Given the description of an element on the screen output the (x, y) to click on. 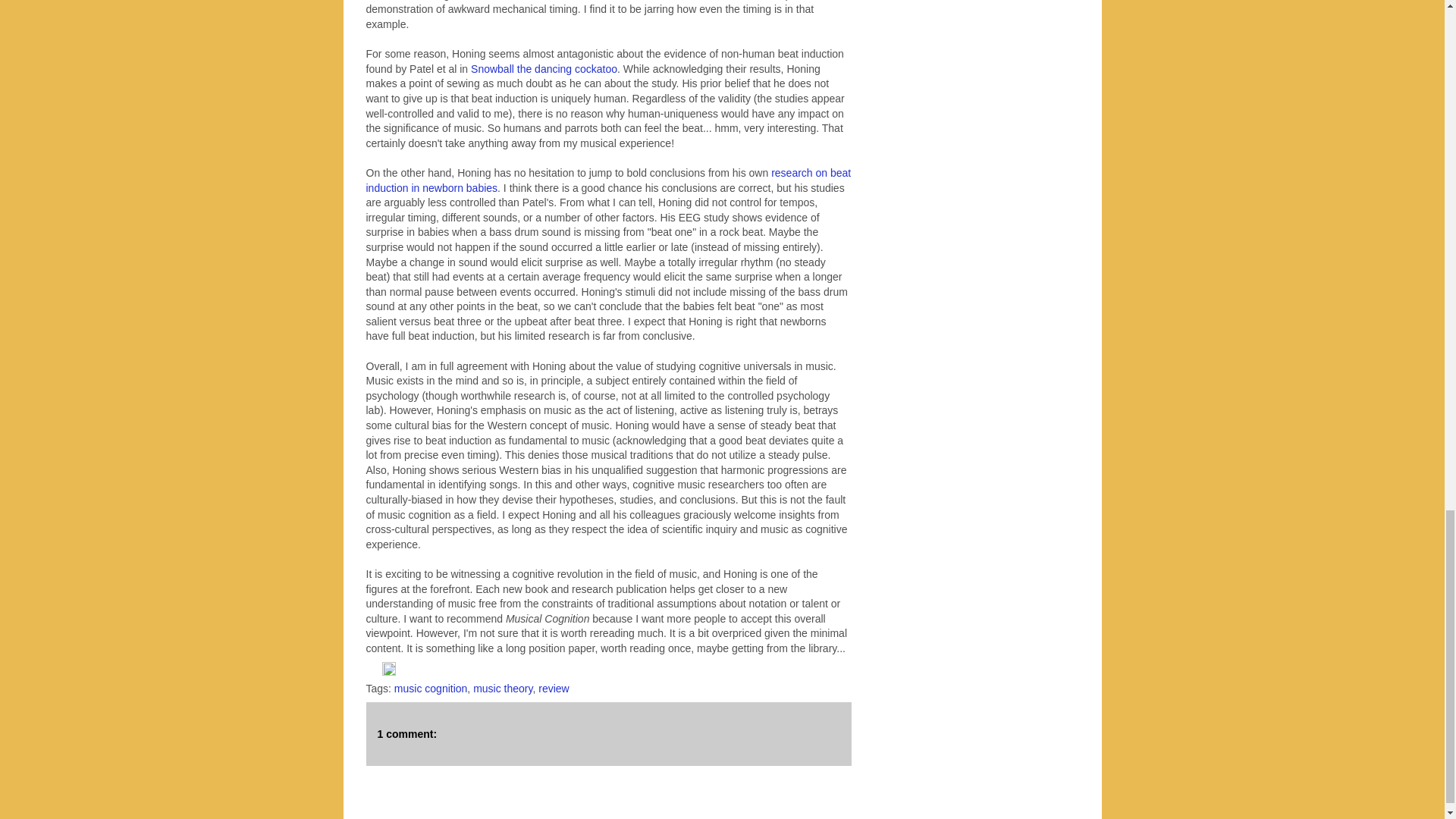
music cognition (430, 688)
Snowball the dancing cockatoo (543, 69)
research on beat induction in newborn babies (607, 180)
music theory (502, 688)
Edit Post (388, 671)
Email Post (373, 671)
review (553, 688)
